Given the description of an element on the screen output the (x, y) to click on. 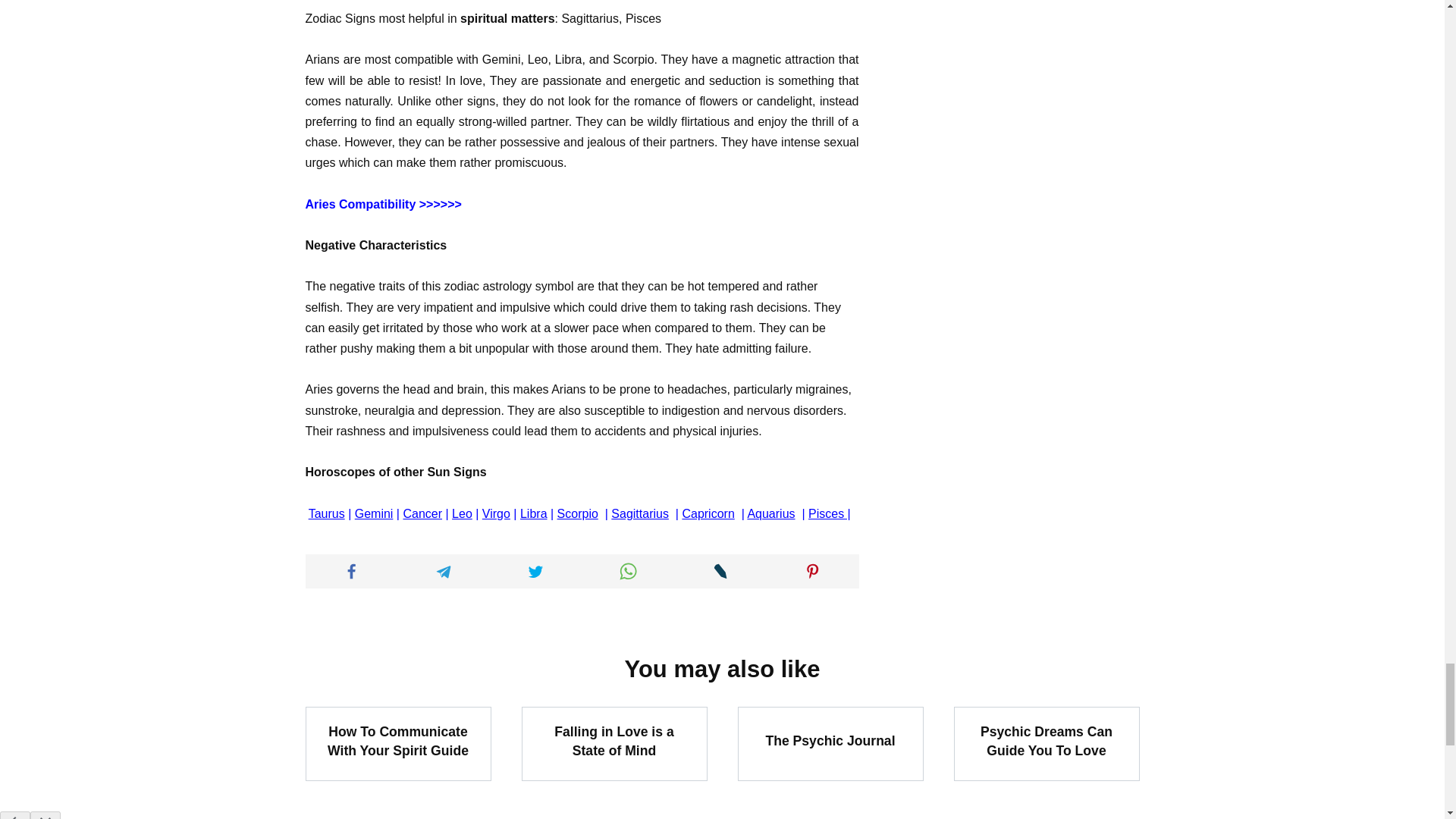
Taurus (326, 512)
